Given the description of an element on the screen output the (x, y) to click on. 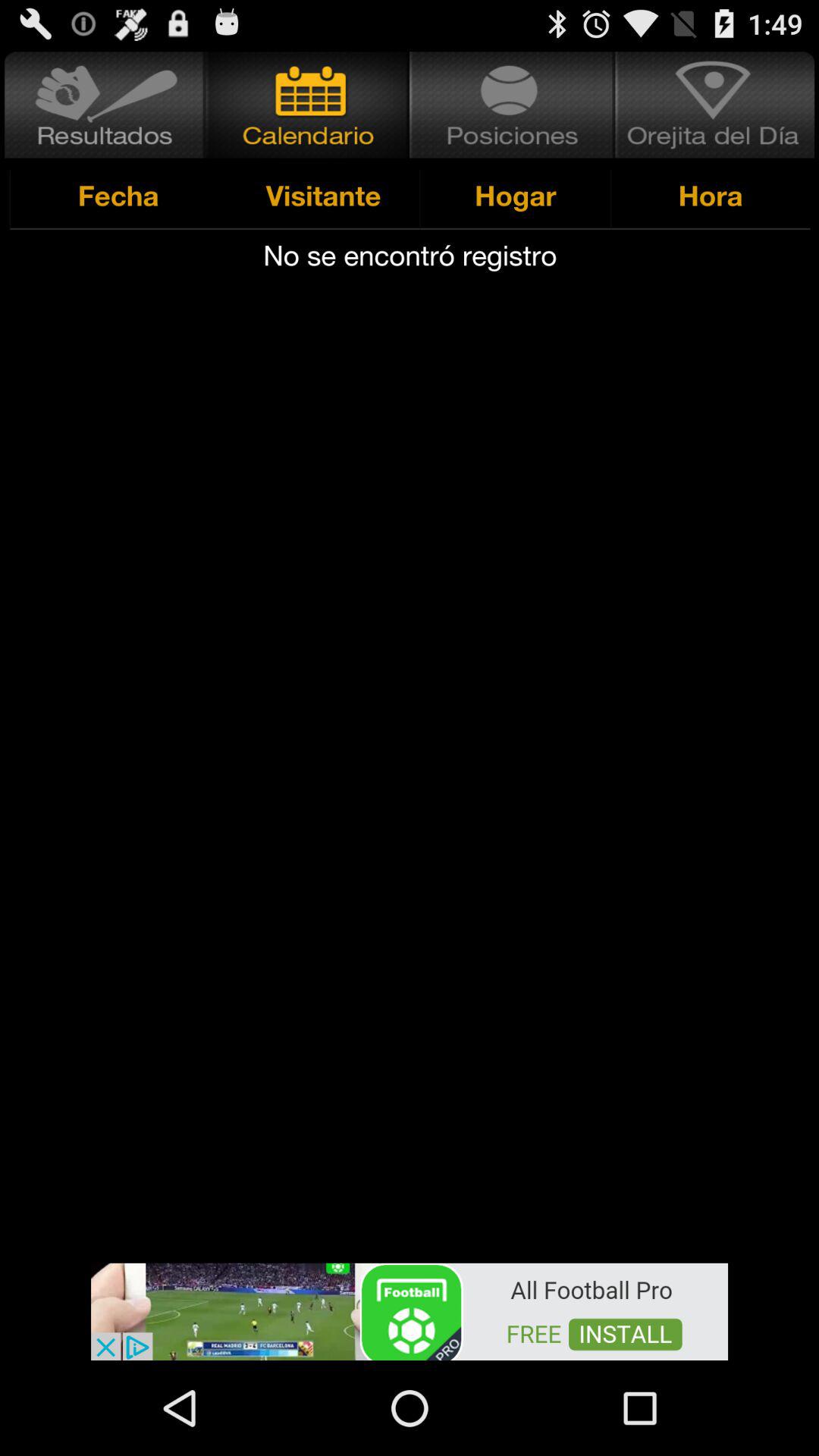
posiciones option (512, 104)
